Given the description of an element on the screen output the (x, y) to click on. 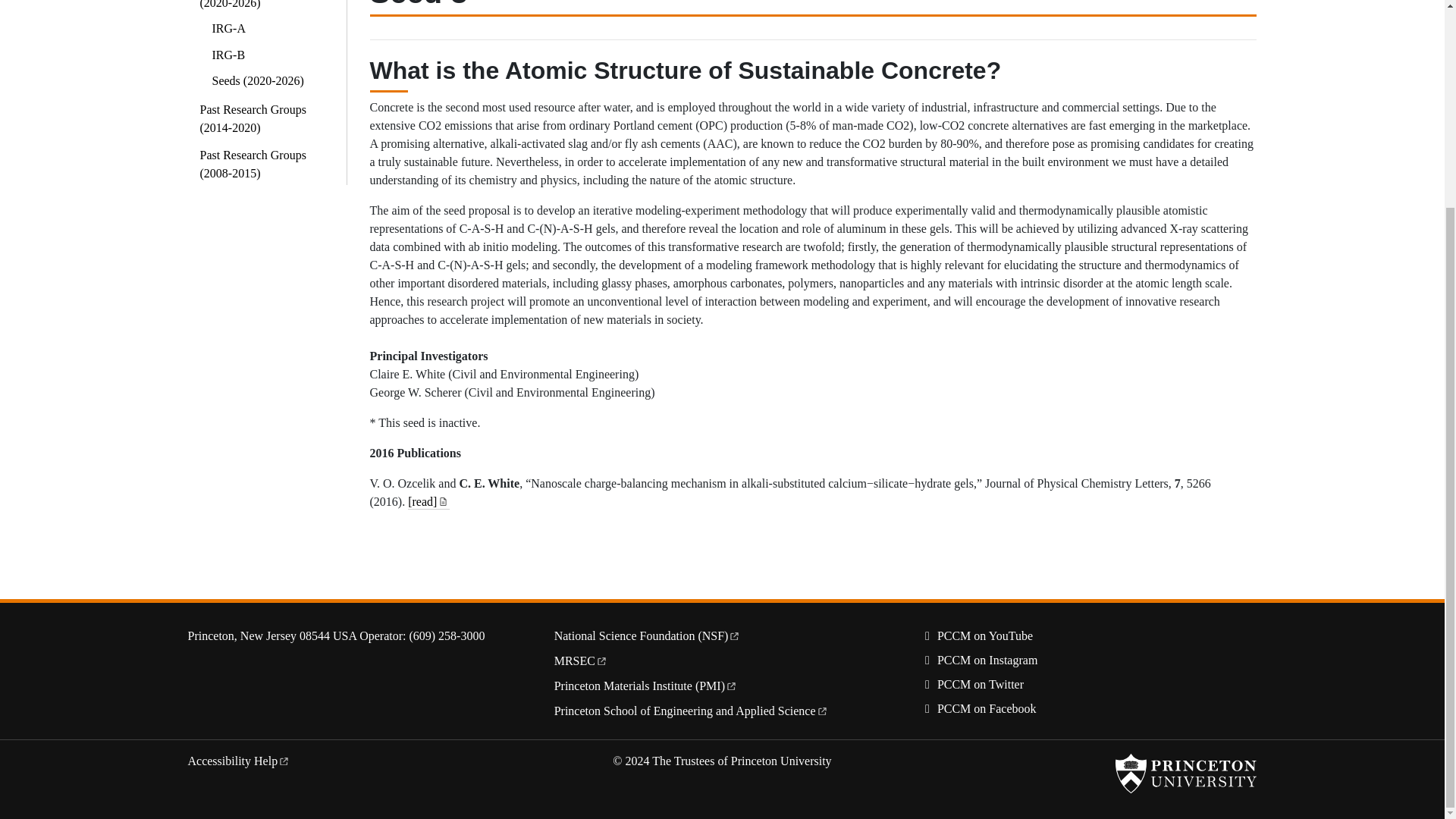
Princeton University (1185, 773)
PCCM on YouTube (976, 635)
PCCM on Twitter (971, 684)
PCCM on Instagram (978, 659)
Link is external (283, 759)
Link downloads document (442, 500)
Link is external (730, 684)
Link is external (734, 633)
PCCM on Facebook (978, 707)
Link is external (600, 659)
Link is external (820, 709)
